Given the description of an element on the screen output the (x, y) to click on. 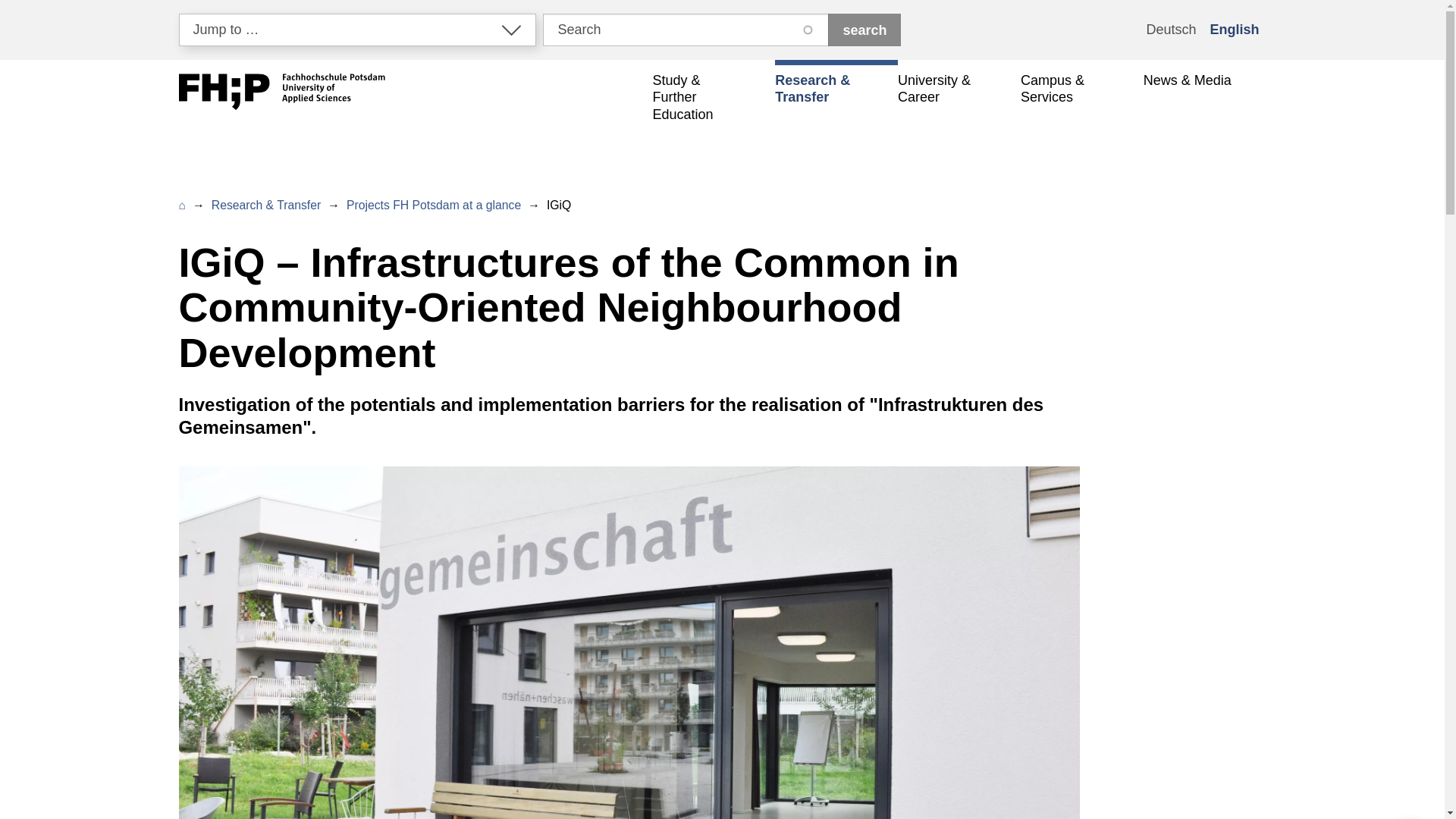
Deutsch (1170, 29)
Home (282, 93)
English (1233, 29)
search (864, 29)
Deutsch (1170, 29)
Studies for the future at the FH Potsdam (713, 97)
English (1233, 29)
